Given the description of an element on the screen output the (x, y) to click on. 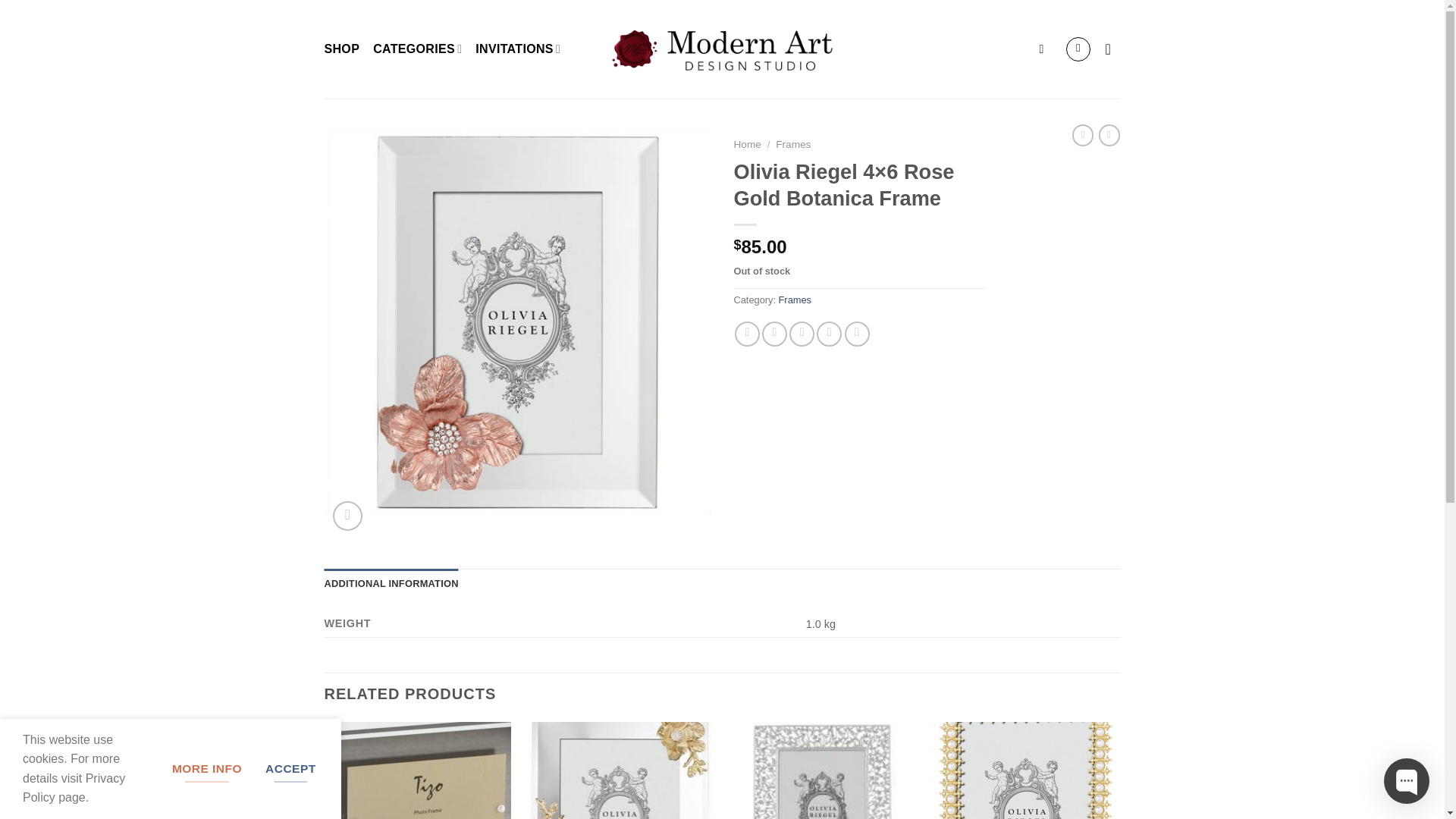
Frames (793, 143)
Frames (794, 299)
SHOP (341, 49)
INVITATIONS (518, 48)
Home (747, 143)
CATEGORIES (416, 48)
